Given the description of an element on the screen output the (x, y) to click on. 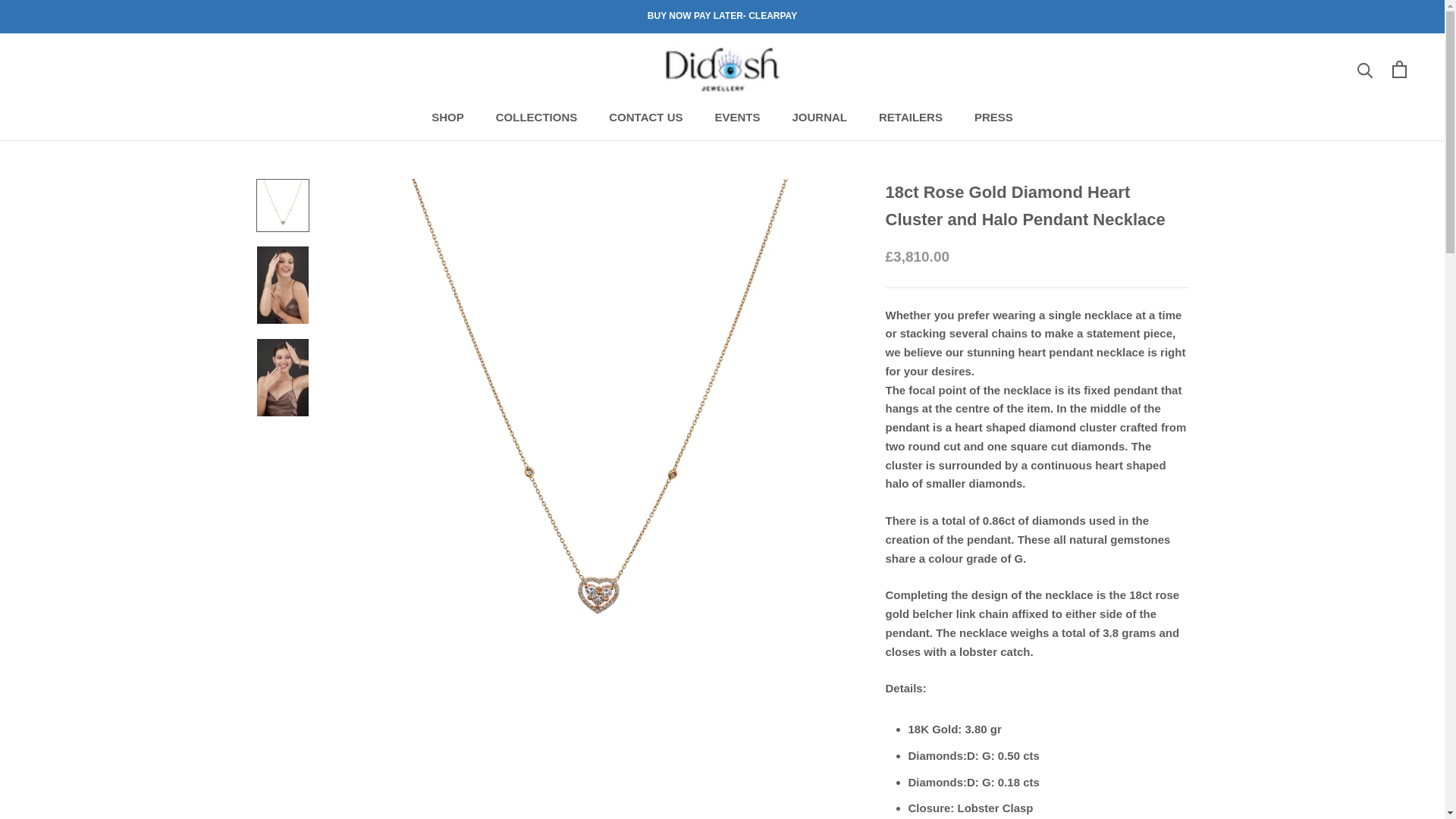
COLLECTIONS (537, 116)
BUY NOW PAY LATER- CLEARPAY (721, 15)
SHOP (447, 116)
